Given the description of an element on the screen output the (x, y) to click on. 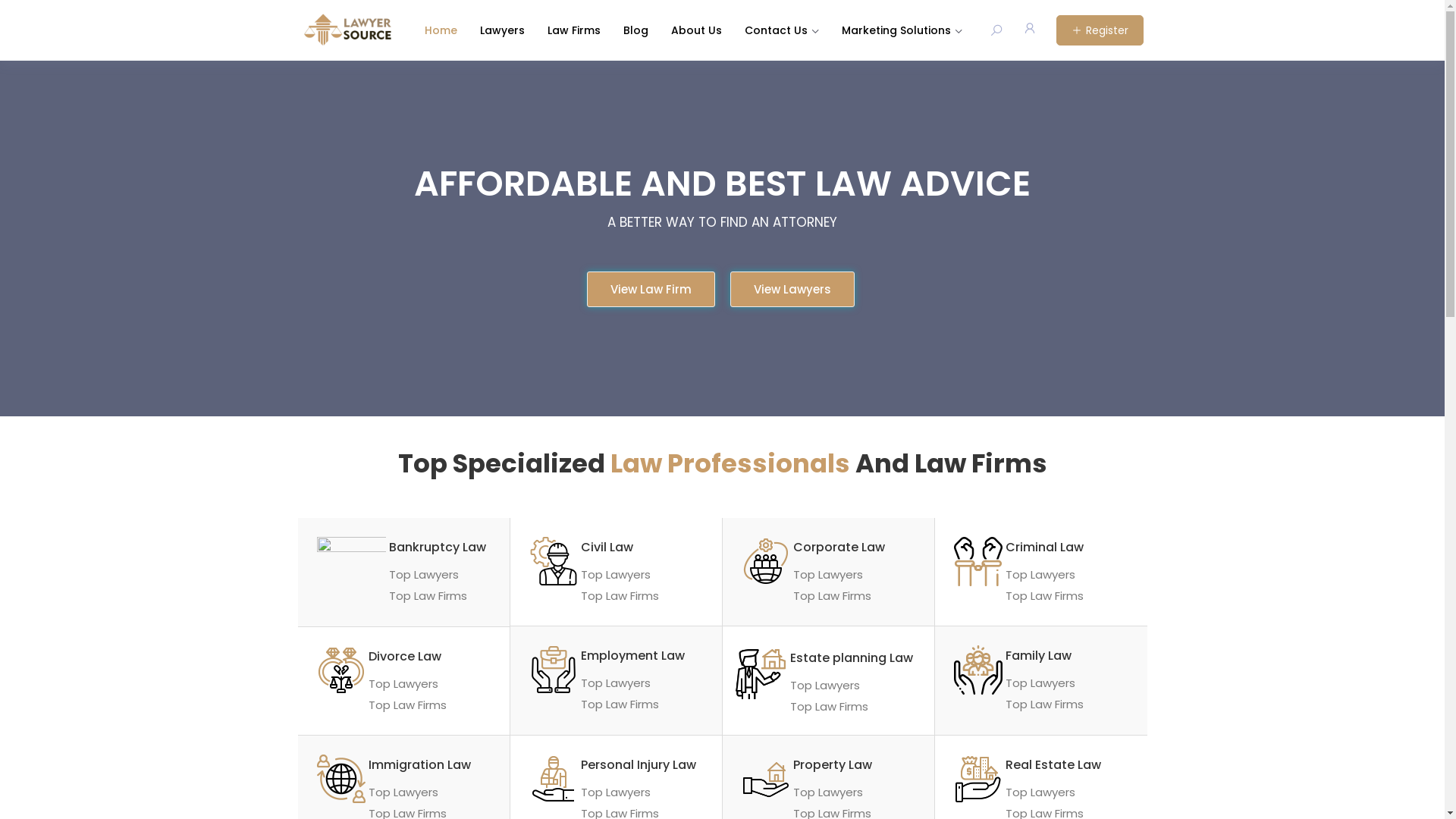
Civil Law Element type: text (606, 546)
Top Lawyers Element type: text (403, 683)
Register Element type: text (1098, 30)
Top Lawyers Element type: text (824, 685)
Top Lawyers Element type: text (1040, 574)
Marketing Solutions Element type: text (901, 30)
Law Firms Element type: text (573, 30)
Estate planning Law Element type: text (851, 657)
Lawyers Element type: text (501, 30)
Home Element type: text (440, 30)
Personal Injury Law Element type: text (638, 764)
View Law Firm Element type: text (650, 289)
Top Lawyers Element type: text (403, 792)
Top Lawyers Element type: text (615, 682)
Top Lawyers Element type: text (827, 792)
Top Lawyers Element type: text (423, 574)
Blog Element type: text (635, 30)
Property Law Element type: text (832, 764)
Family Law Element type: text (1038, 655)
Top Lawyers Element type: text (1040, 792)
Top Lawyers Element type: text (827, 574)
Top Lawyers Element type: text (615, 574)
Employment Law Element type: text (632, 655)
Bankruptcy Law Element type: text (437, 546)
View Lawyers Element type: text (791, 289)
Top Lawyers Element type: text (615, 792)
Divorce Law Element type: text (404, 656)
Corporate Law Element type: text (838, 546)
Immigration Law Element type: text (419, 764)
Criminal Law Element type: text (1044, 546)
Real Estate Law Element type: text (1053, 764)
Top Lawyers Element type: text (1040, 682)
About Us Element type: text (695, 30)
Contact Us Element type: text (781, 30)
